Given the description of an element on the screen output the (x, y) to click on. 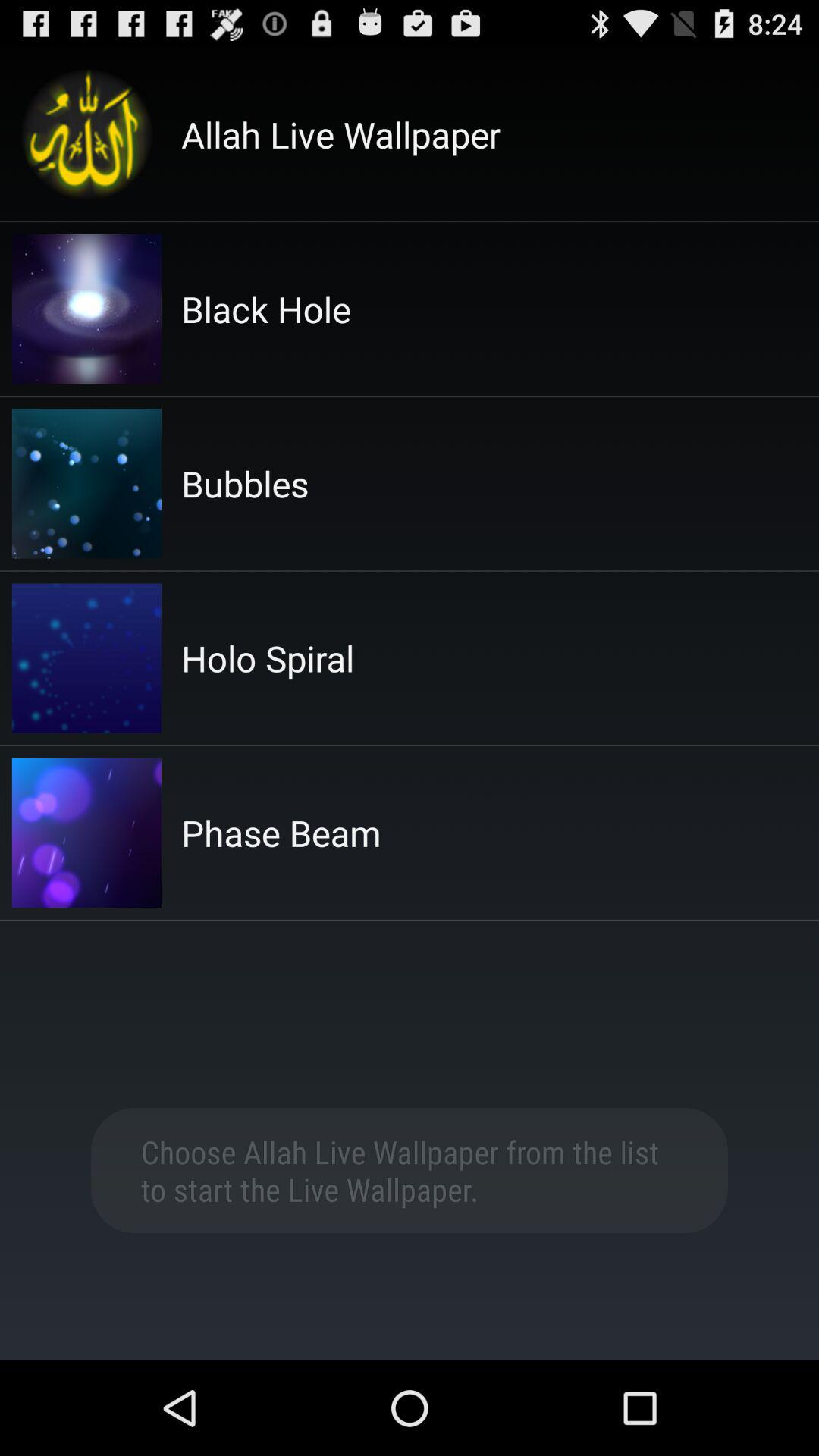
click the allah live wallpaper app (341, 134)
